Given the description of an element on the screen output the (x, y) to click on. 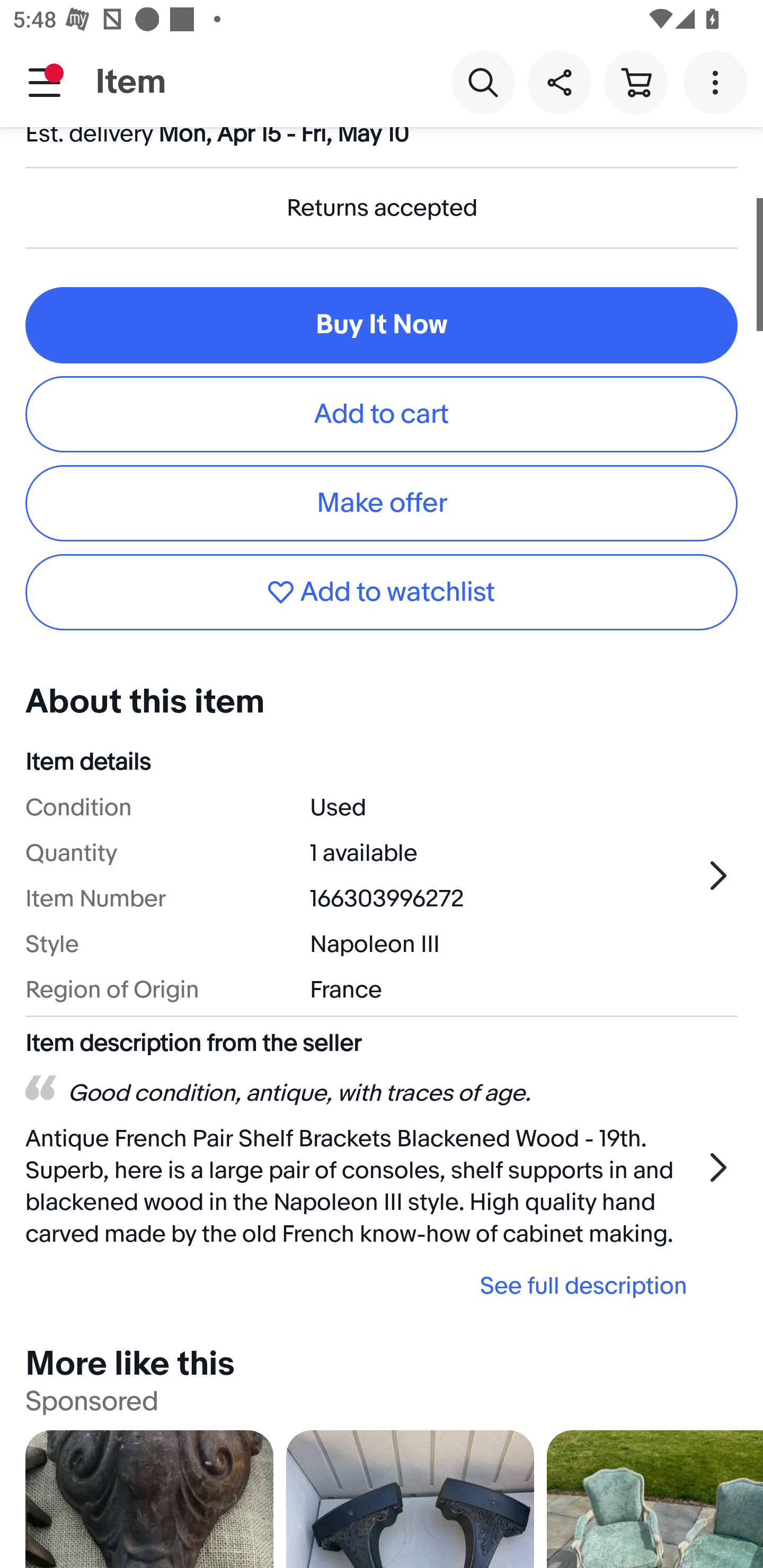
Main navigation, notification is pending, open (44, 82)
Search (482, 81)
Share this item (559, 81)
Cart button shopping cart (635, 81)
More options (718, 81)
Buy It Now (381, 324)
Add to cart (381, 414)
Make offer (381, 502)
Add to watchlist (381, 591)
See full description (362, 1284)
